Given the description of an element on the screen output the (x, y) to click on. 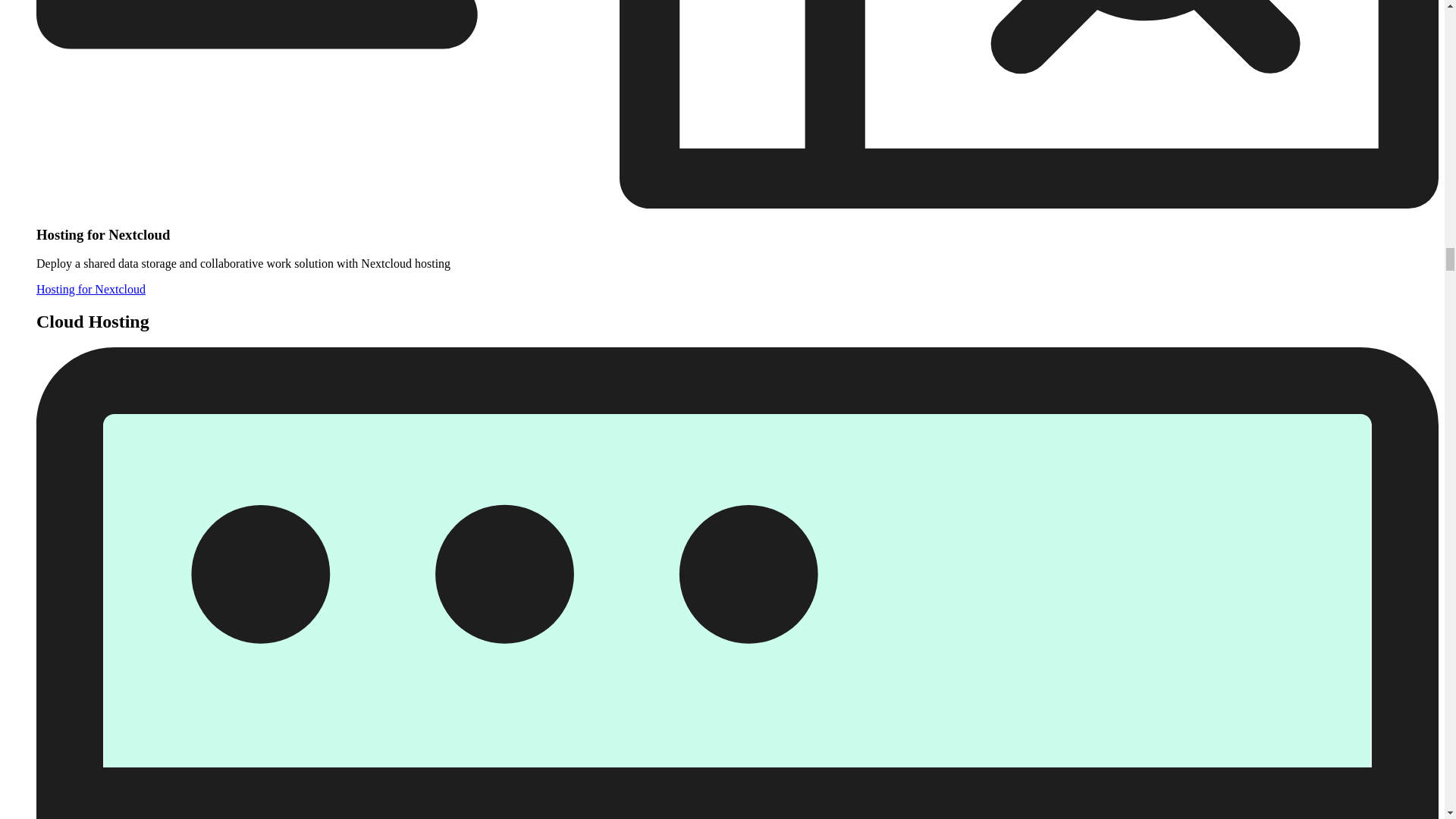
Hosting for Nextcloud (90, 288)
